Given the description of an element on the screen output the (x, y) to click on. 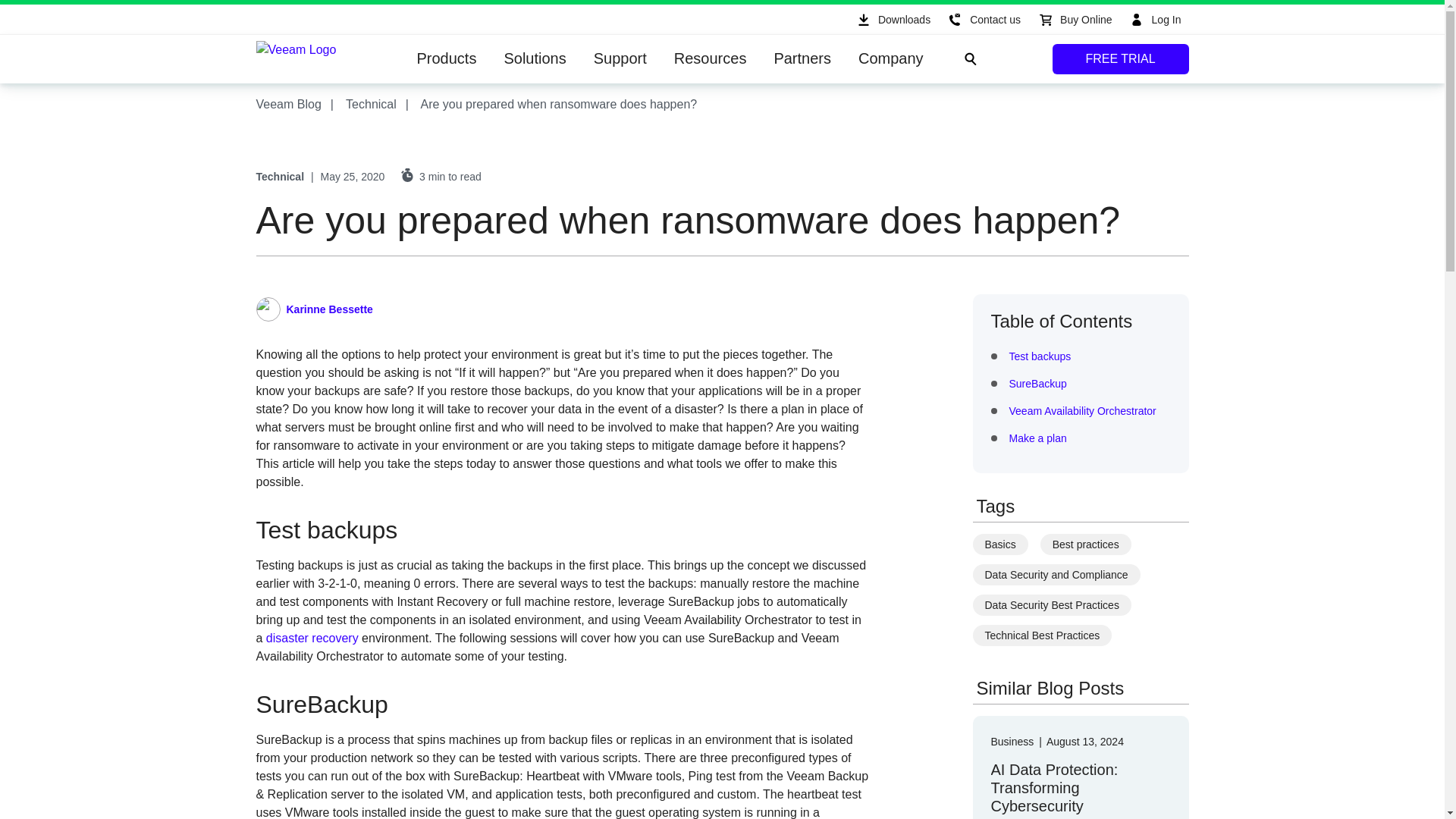
Downloads (891, 19)
Contact us (982, 19)
Buy Online (1073, 19)
Products (446, 59)
Log In (1154, 19)
